Given the description of an element on the screen output the (x, y) to click on. 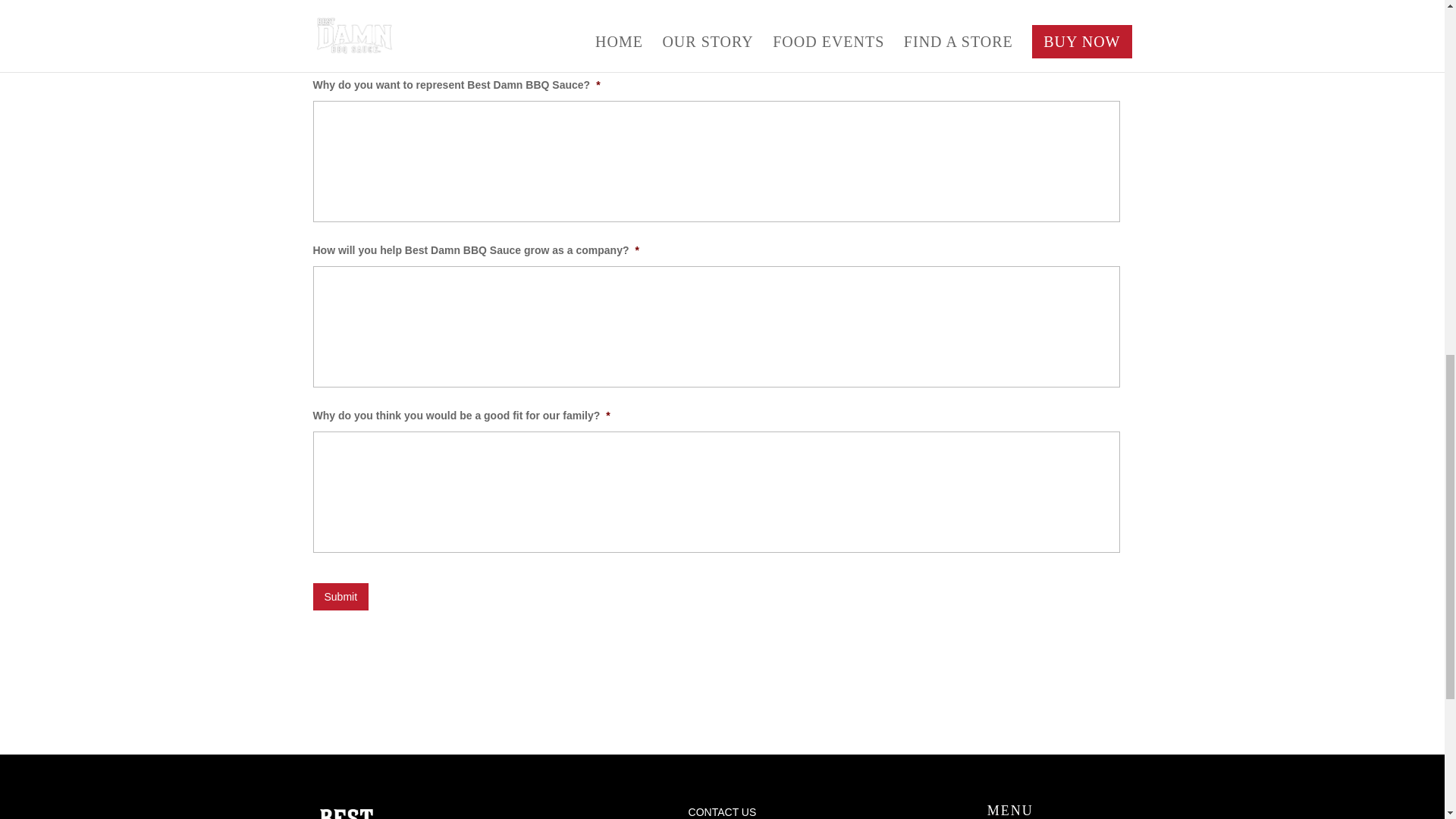
Submit (340, 596)
Submit (340, 596)
CONTACT US (721, 811)
